Given the description of an element on the screen output the (x, y) to click on. 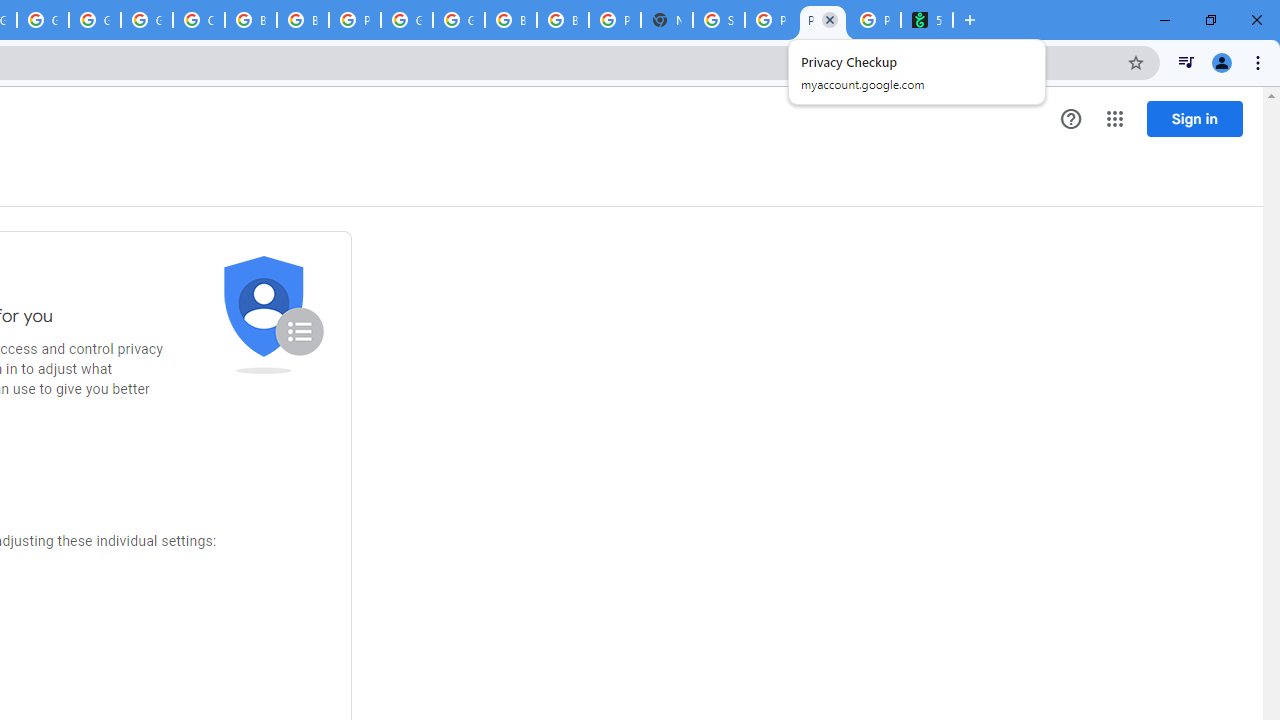
Browse Chrome as a guest - Computer - Google Chrome Help (511, 20)
Browse Chrome as a guest - Computer - Google Chrome Help (302, 20)
Google Cloud Platform (95, 20)
Help (1071, 119)
Google Cloud Platform (458, 20)
